Given the description of an element on the screen output the (x, y) to click on. 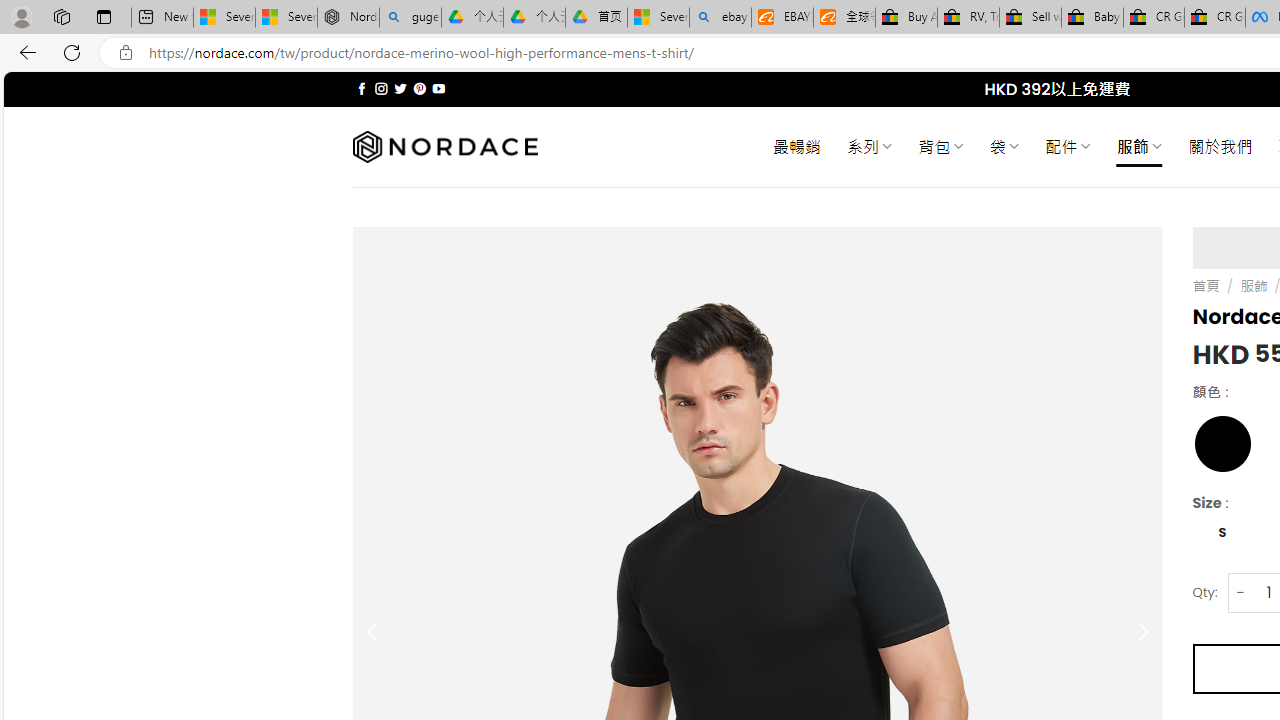
ebay - Search (720, 17)
Nordace (444, 147)
Follow on Twitter (400, 88)
View site information (125, 53)
Follow on Instagram (381, 88)
guge yunpan - Search (410, 17)
